Given the description of an element on the screen output the (x, y) to click on. 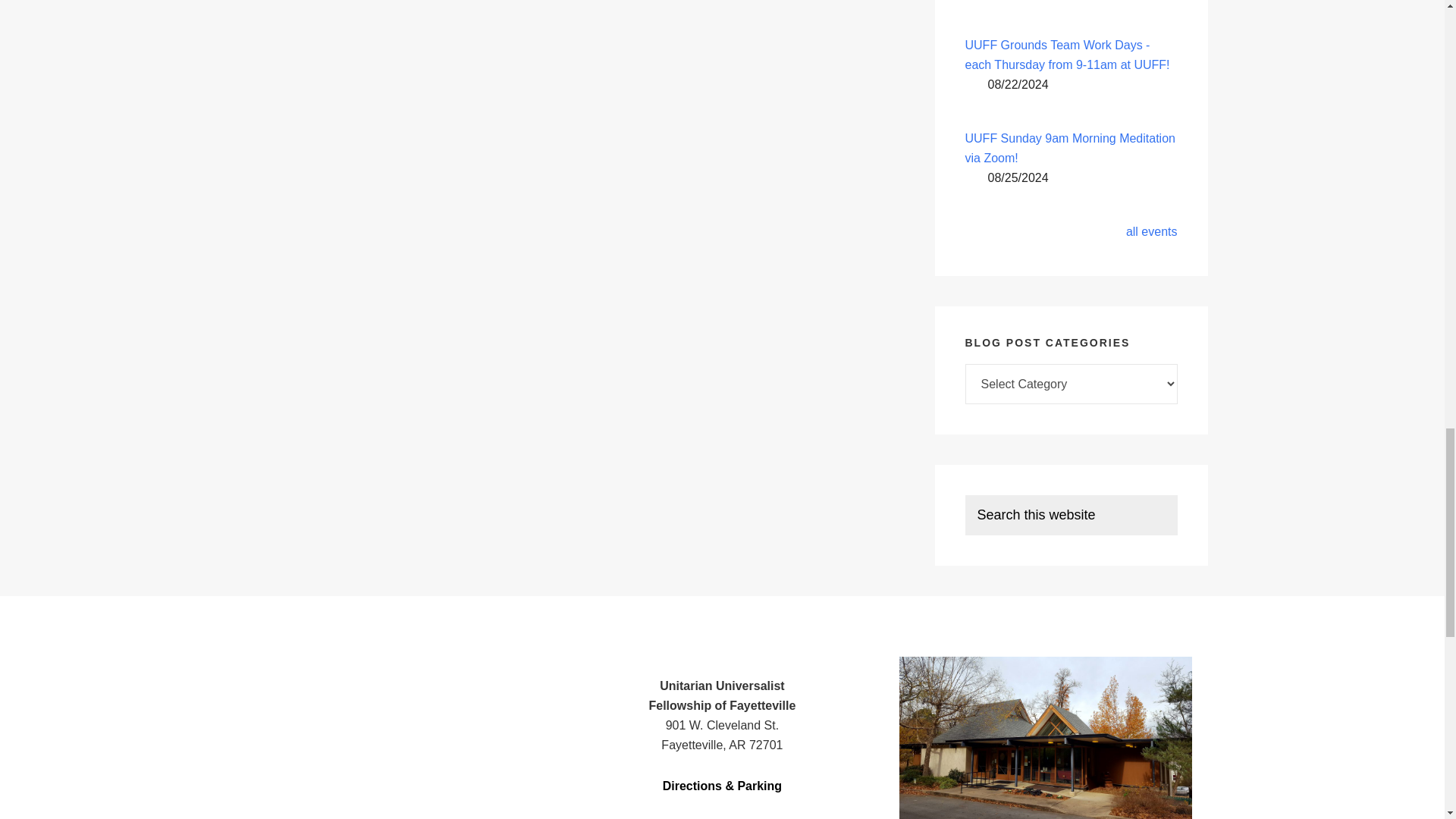
all events (1151, 231)
